Given the description of an element on the screen output the (x, y) to click on. 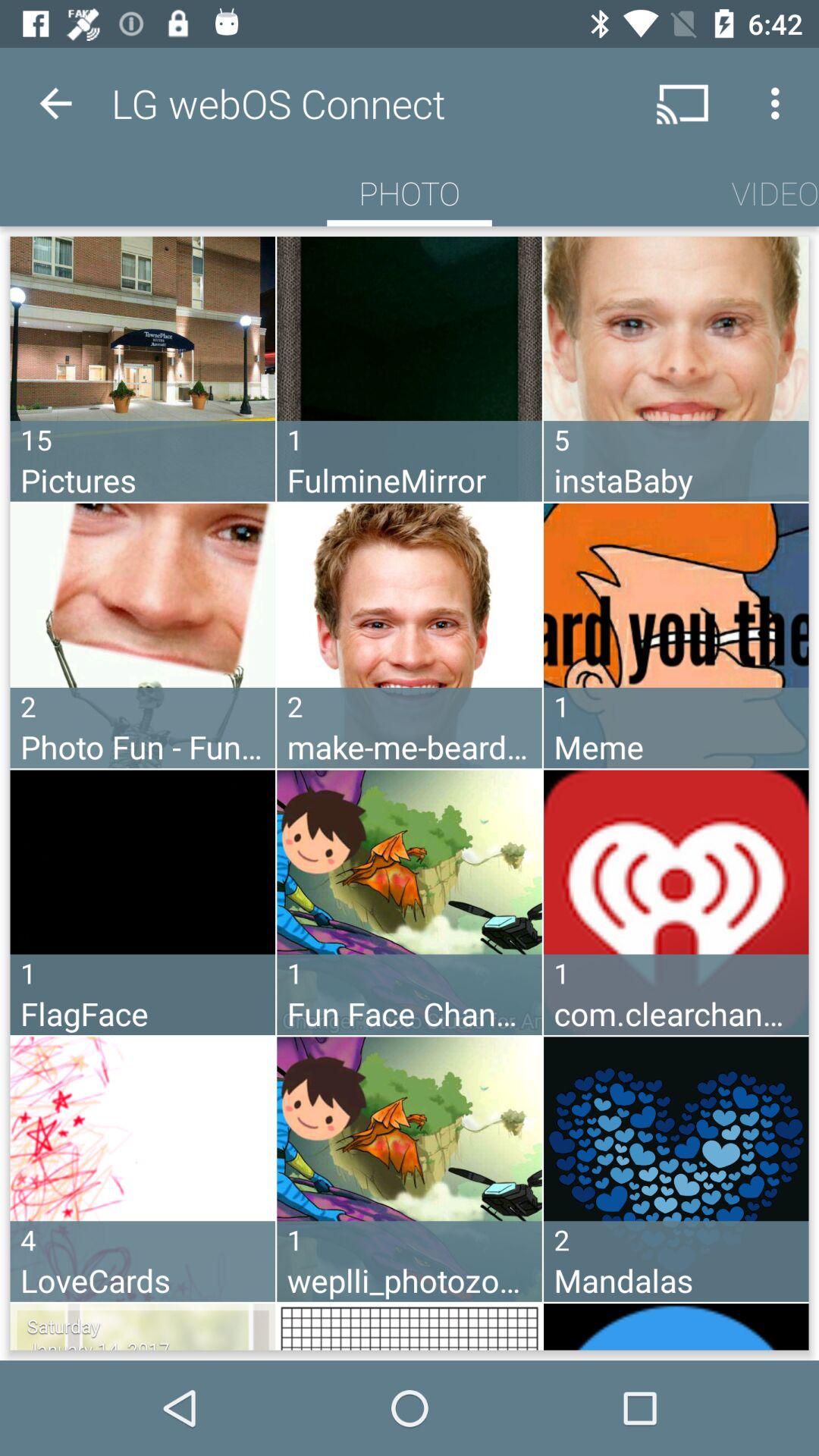
press the item next to the photo icon (775, 192)
